Given the description of an element on the screen output the (x, y) to click on. 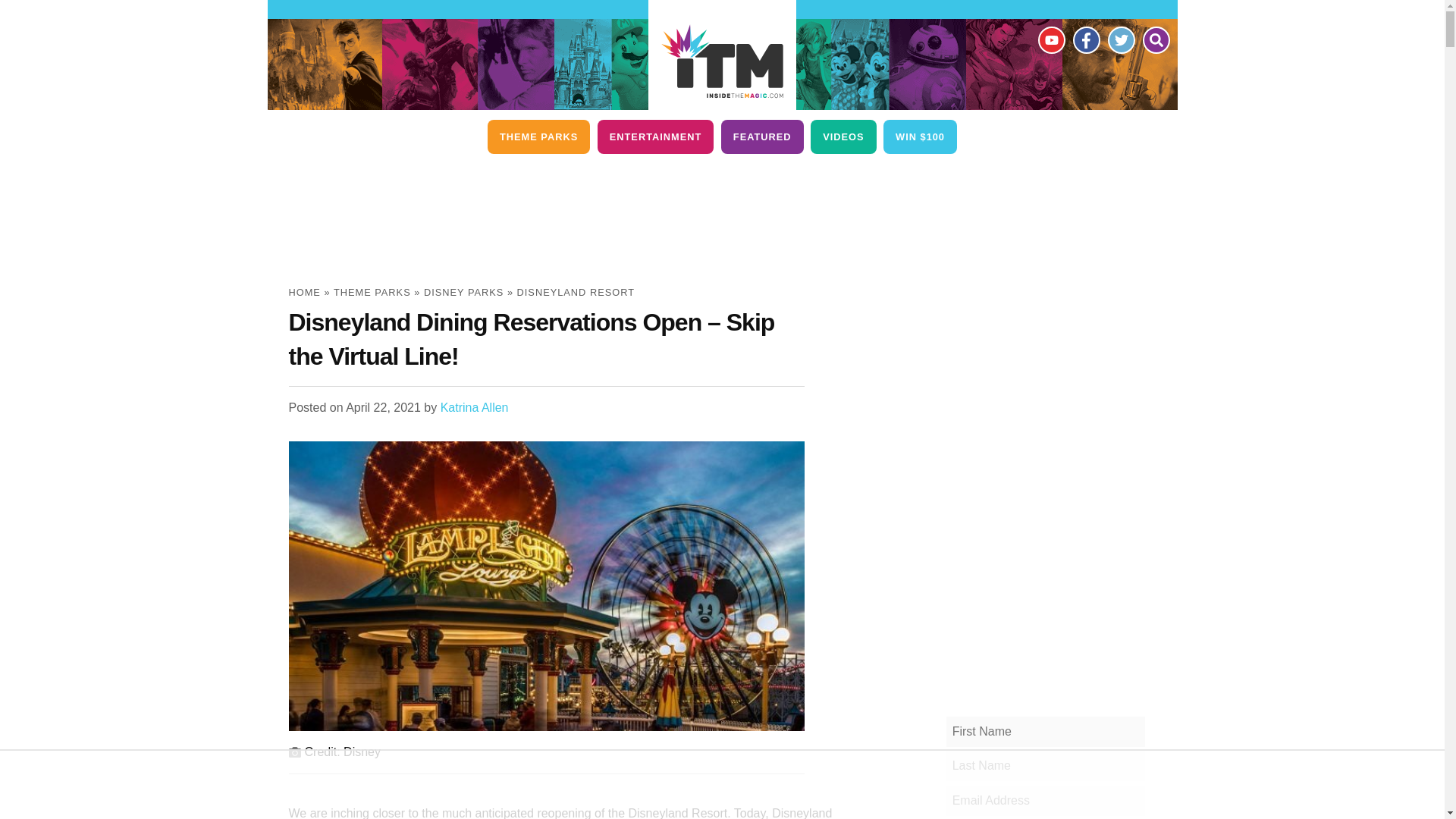
ENTERTAINMENT (655, 136)
Facebook (1085, 40)
THEME PARKS (538, 136)
Search (1155, 40)
Twitter (1120, 40)
YouTube (1050, 40)
FEATURED (761, 136)
